Given the description of an element on the screen output the (x, y) to click on. 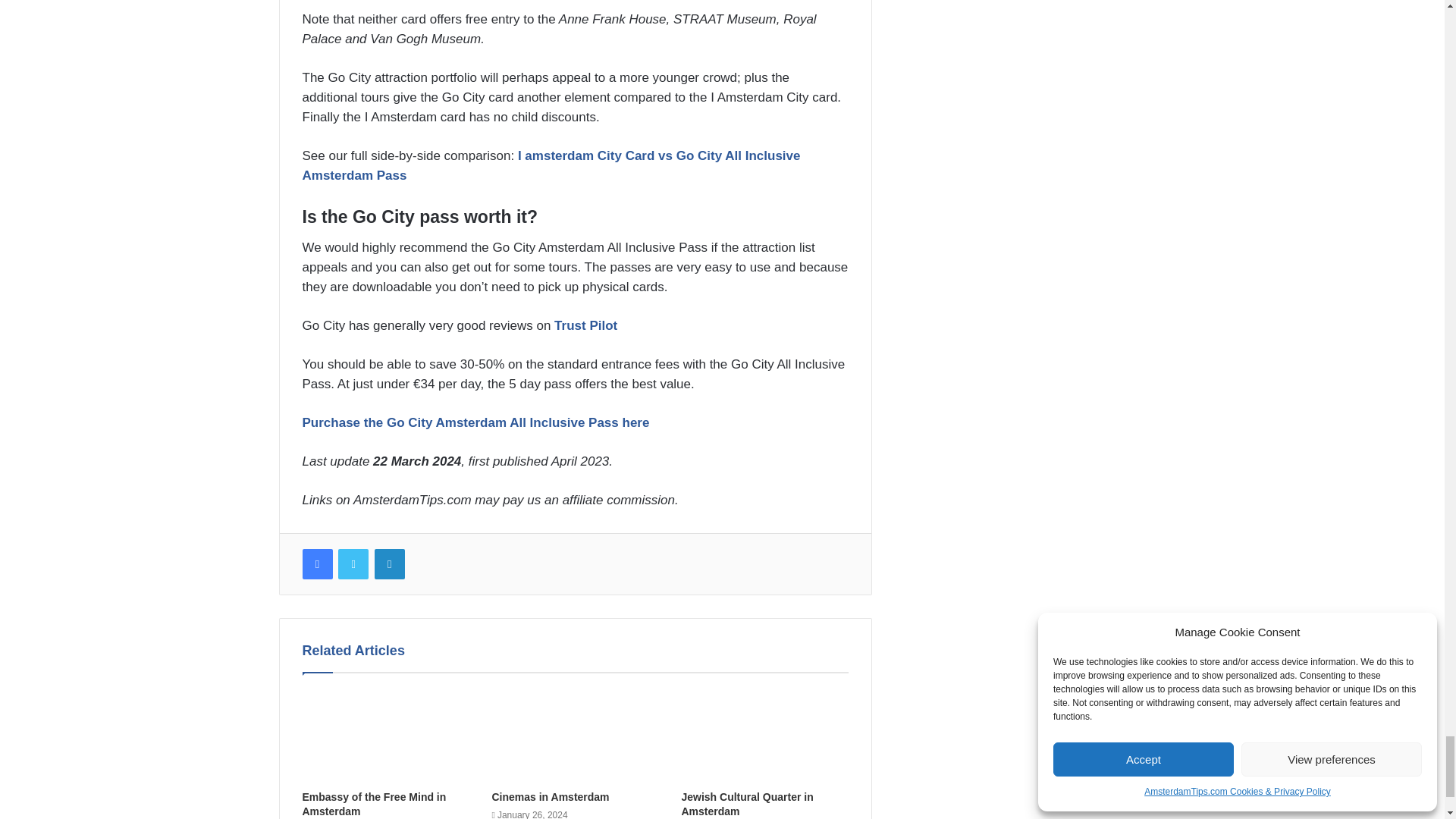
Twitter (352, 563)
LinkedIn (389, 563)
Facebook (316, 563)
